Given the description of an element on the screen output the (x, y) to click on. 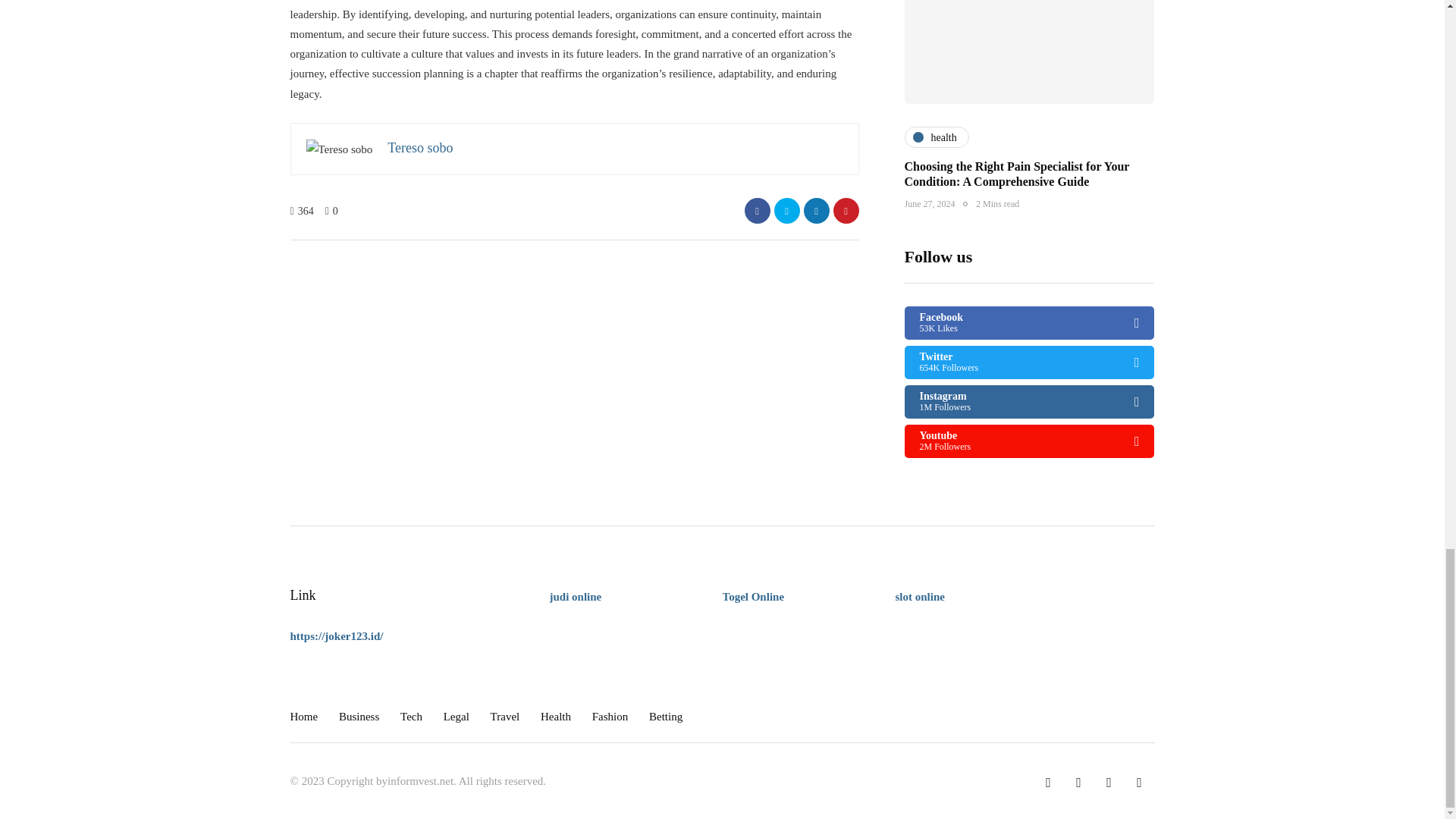
Pin this (845, 210)
Share with LinkedIn (816, 210)
Tweet this (786, 210)
Tereso sobo (419, 147)
Share with Facebook (757, 210)
